Given the description of an element on the screen output the (x, y) to click on. 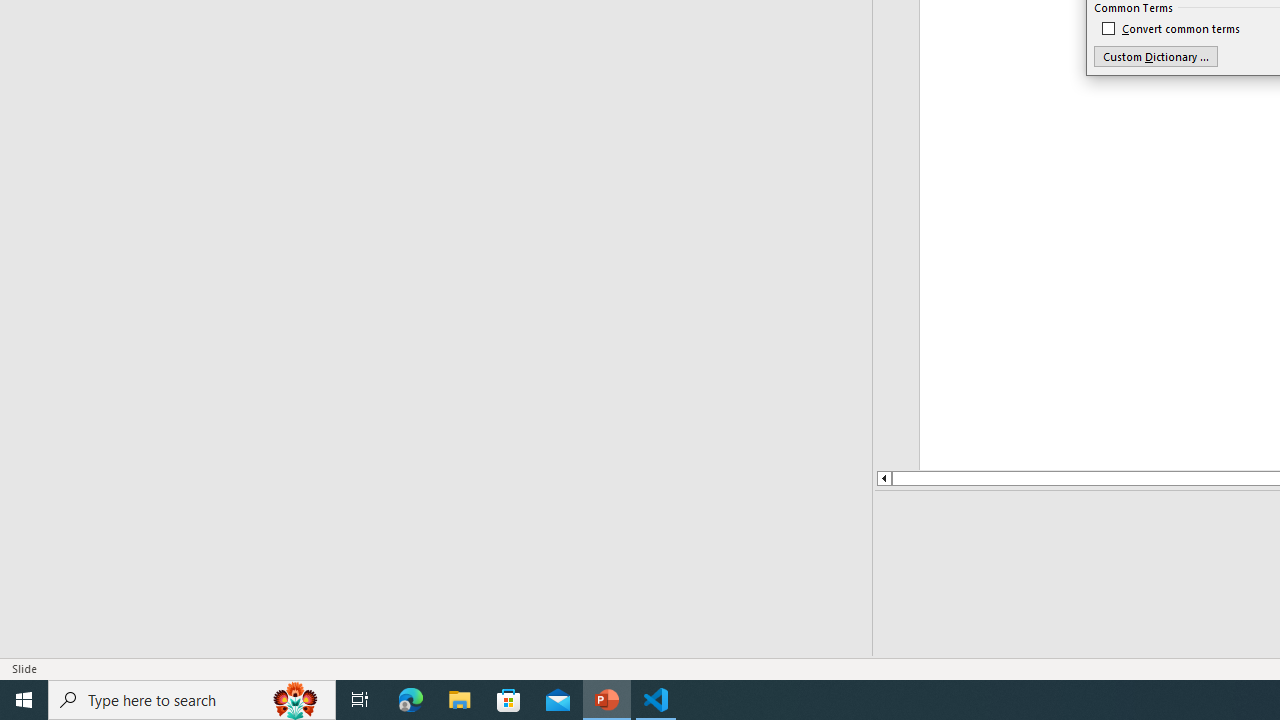
Convert common terms (1171, 28)
Custom Dictionary ... (1155, 55)
